Given the description of an element on the screen output the (x, y) to click on. 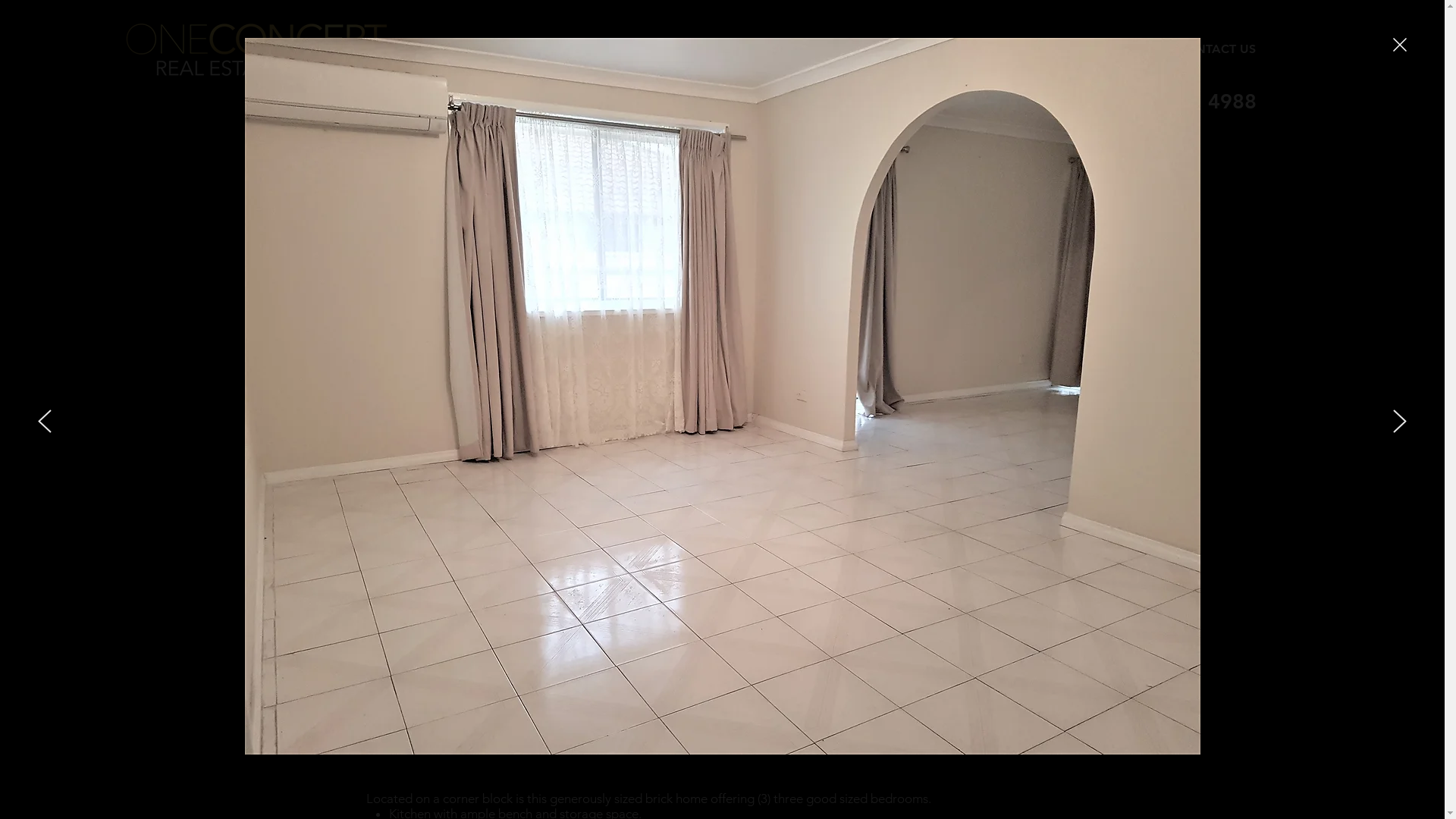
BUYING Element type: text (923, 48)
SELLING Element type: text (839, 48)
CONTACT US Element type: text (1216, 48)
RENTALS Element type: text (1008, 48)
HOME Element type: text (761, 48)
OUR VISION Element type: text (1105, 48)
